Given the description of an element on the screen output the (x, y) to click on. 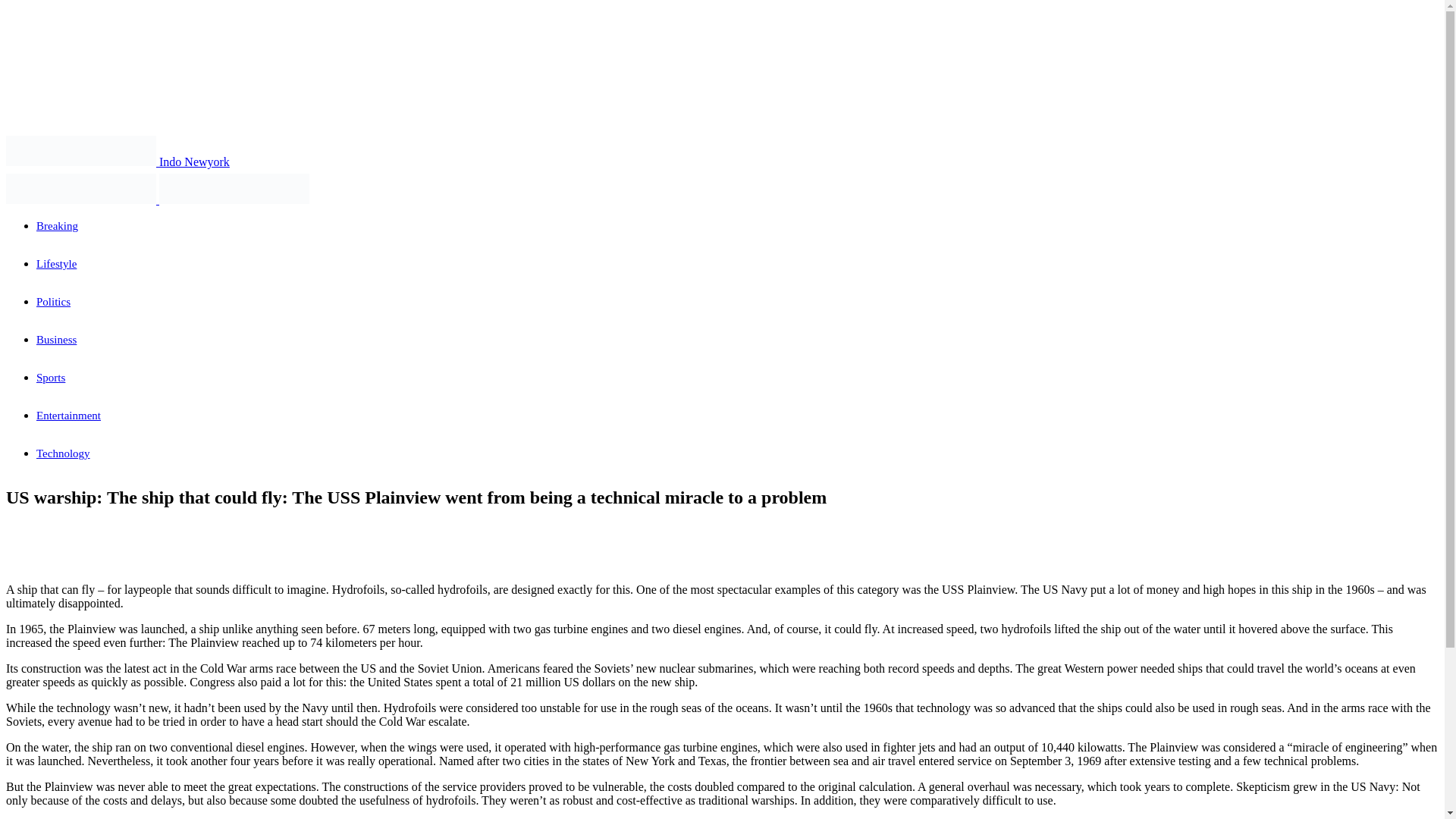
Lifestyle (56, 263)
Entertainment (68, 415)
Business (56, 339)
Technology (63, 453)
Politics (52, 301)
Indo Newyork (117, 161)
Sports (50, 377)
Breaking (57, 225)
